Given the description of an element on the screen output the (x, y) to click on. 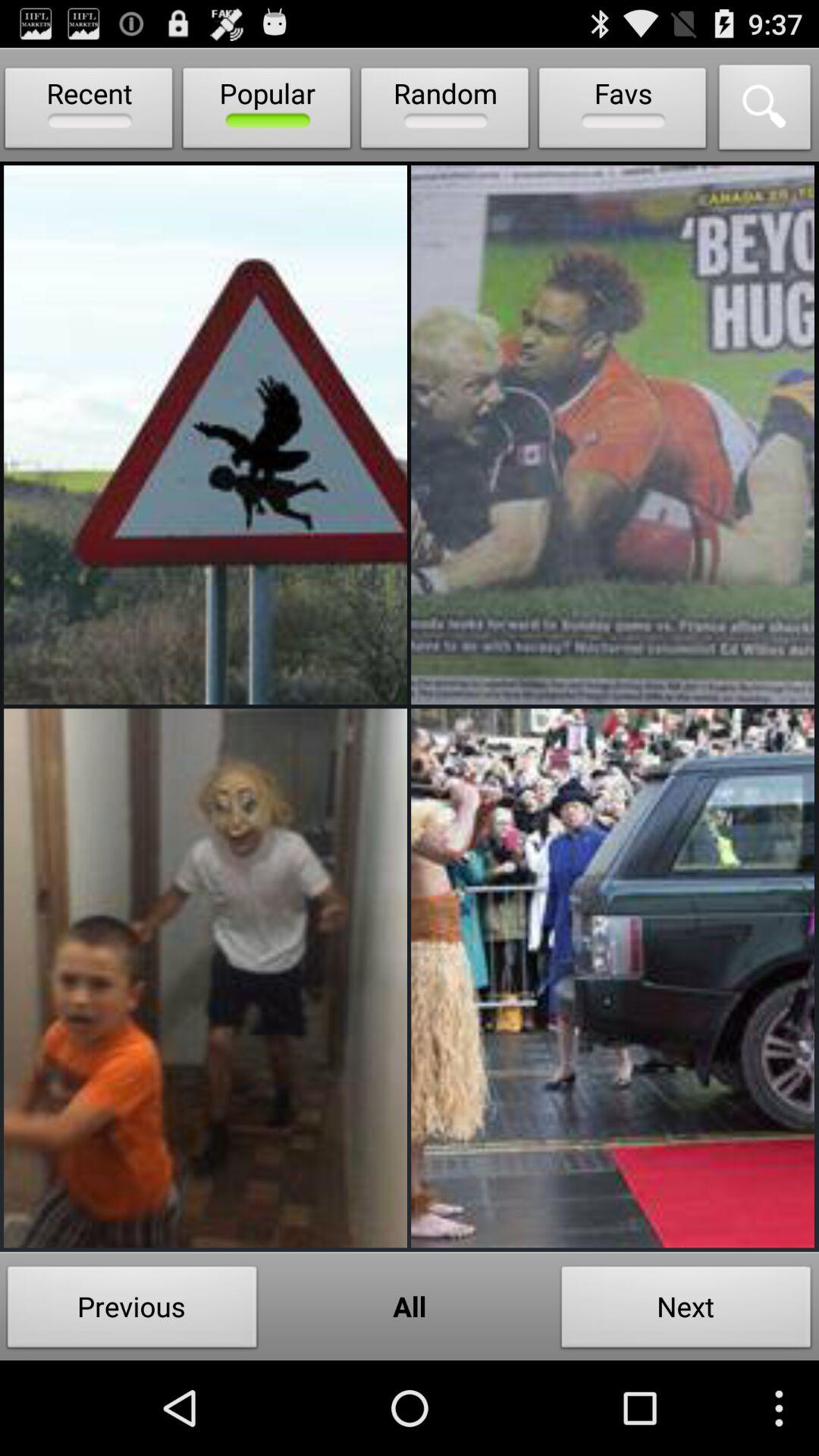
tap the item next to the popular item (89, 111)
